Given the description of an element on the screen output the (x, y) to click on. 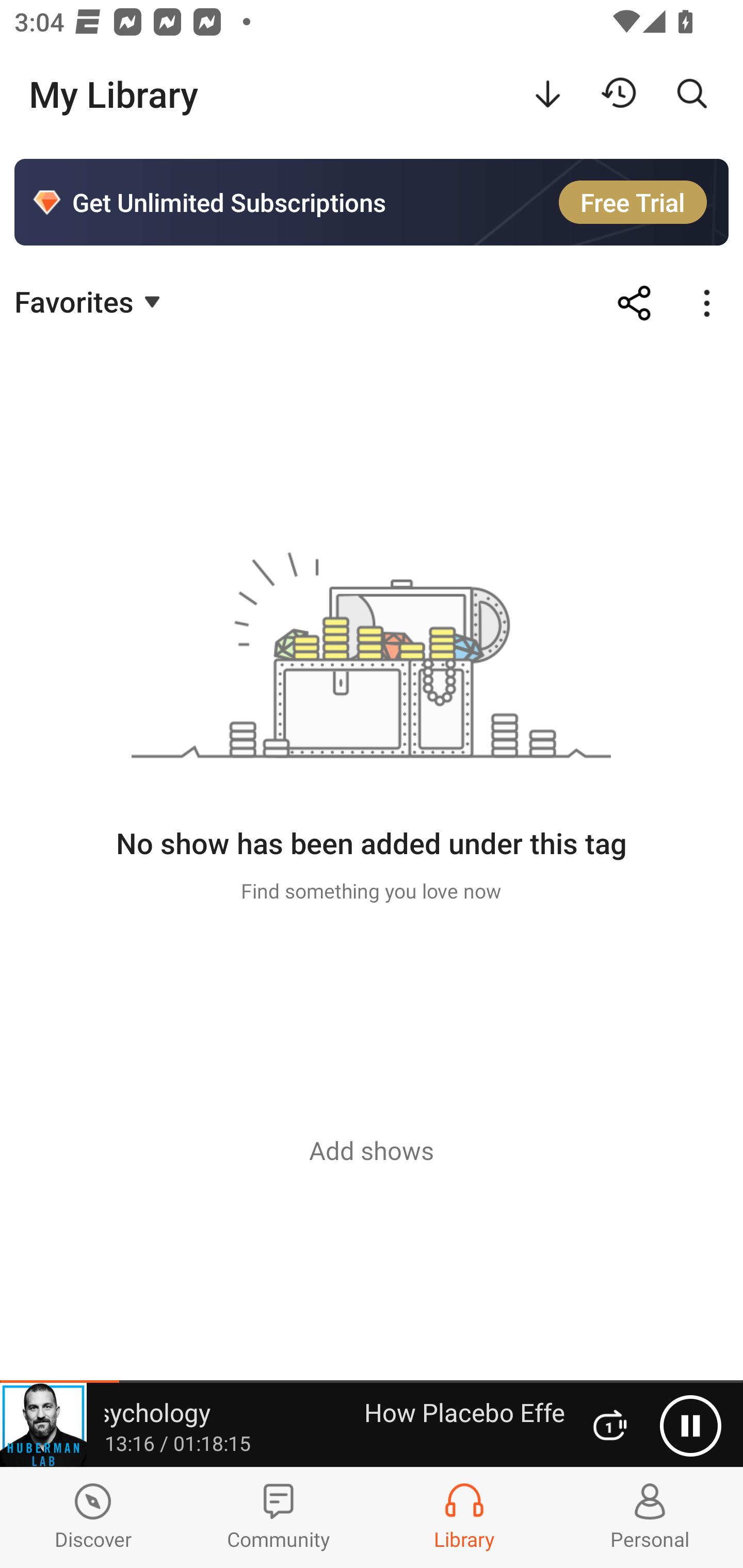
Get Unlimited Subscriptions Free Trial (371, 202)
Free Trial (632, 202)
Favorites (90, 300)
Add shows (371, 1150)
Pause (690, 1425)
Discover (92, 1517)
Community (278, 1517)
Library (464, 1517)
Profiles and Settings Personal (650, 1517)
